Given the description of an element on the screen output the (x, y) to click on. 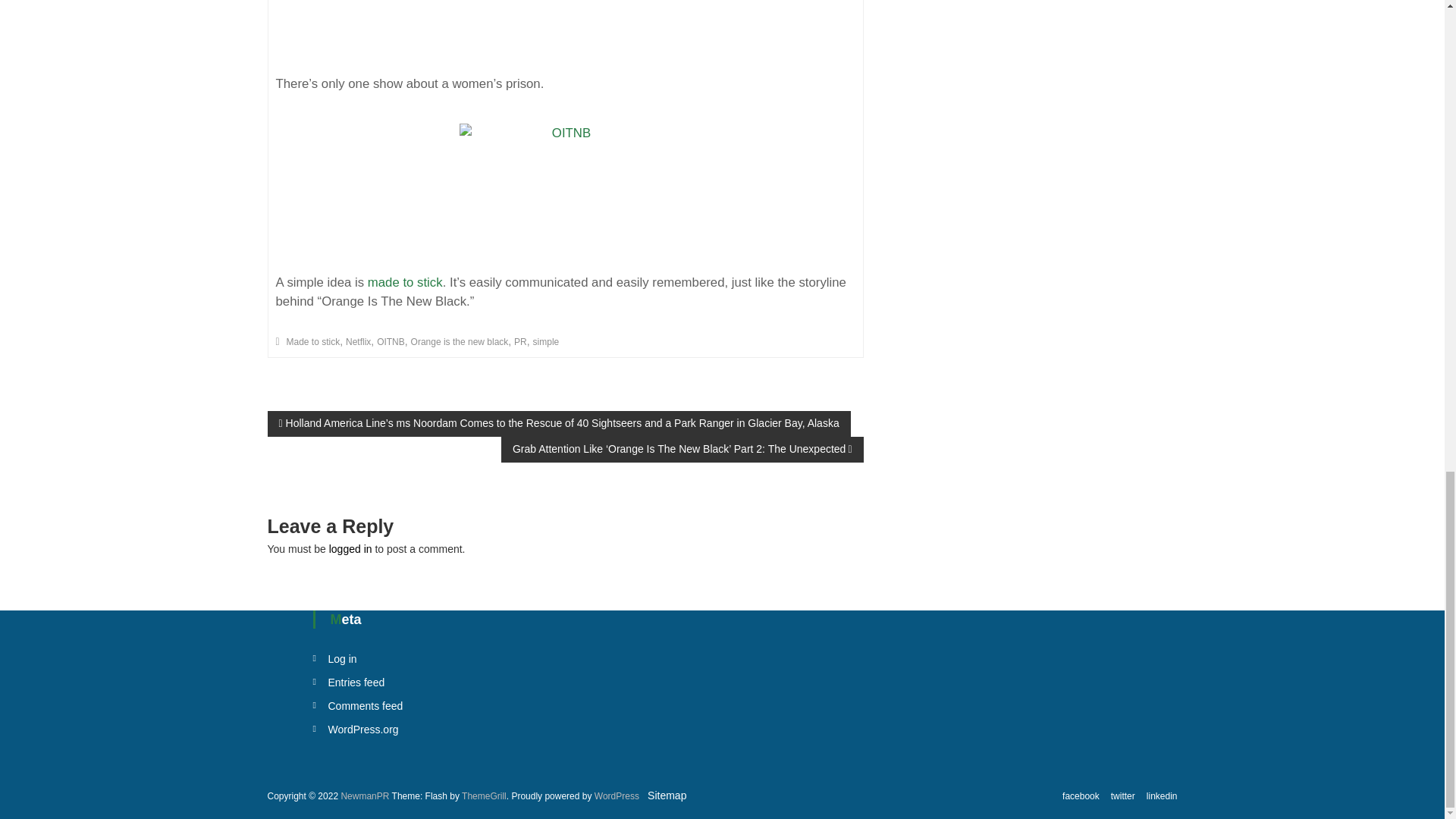
made to stick (405, 282)
PR (520, 341)
Log in (341, 658)
logged in (350, 548)
Orange is the new black (459, 341)
Netflix (358, 341)
Made to stick (313, 341)
simple (545, 341)
OITNB (390, 341)
